Given the description of an element on the screen output the (x, y) to click on. 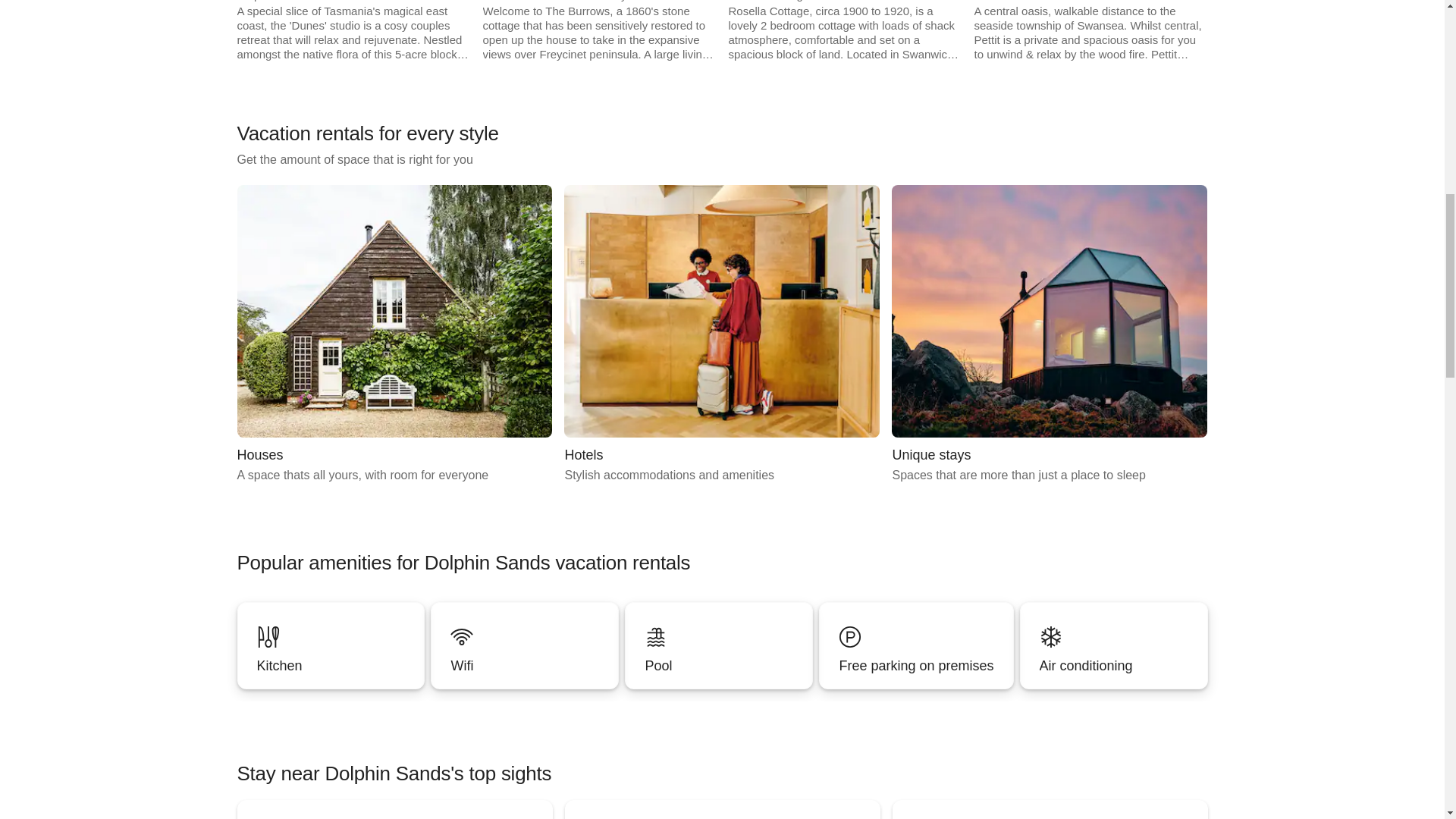
Pool (393, 334)
Kitchen (718, 645)
Kitchen (330, 645)
Wifi (330, 645)
Free parking on premises (523, 665)
Free parking on premises (915, 645)
Free parking on premises (721, 334)
Wifi (1049, 334)
Pool (915, 645)
Wifi (915, 665)
Air conditioning (524, 645)
Pool (718, 645)
